Given the description of an element on the screen output the (x, y) to click on. 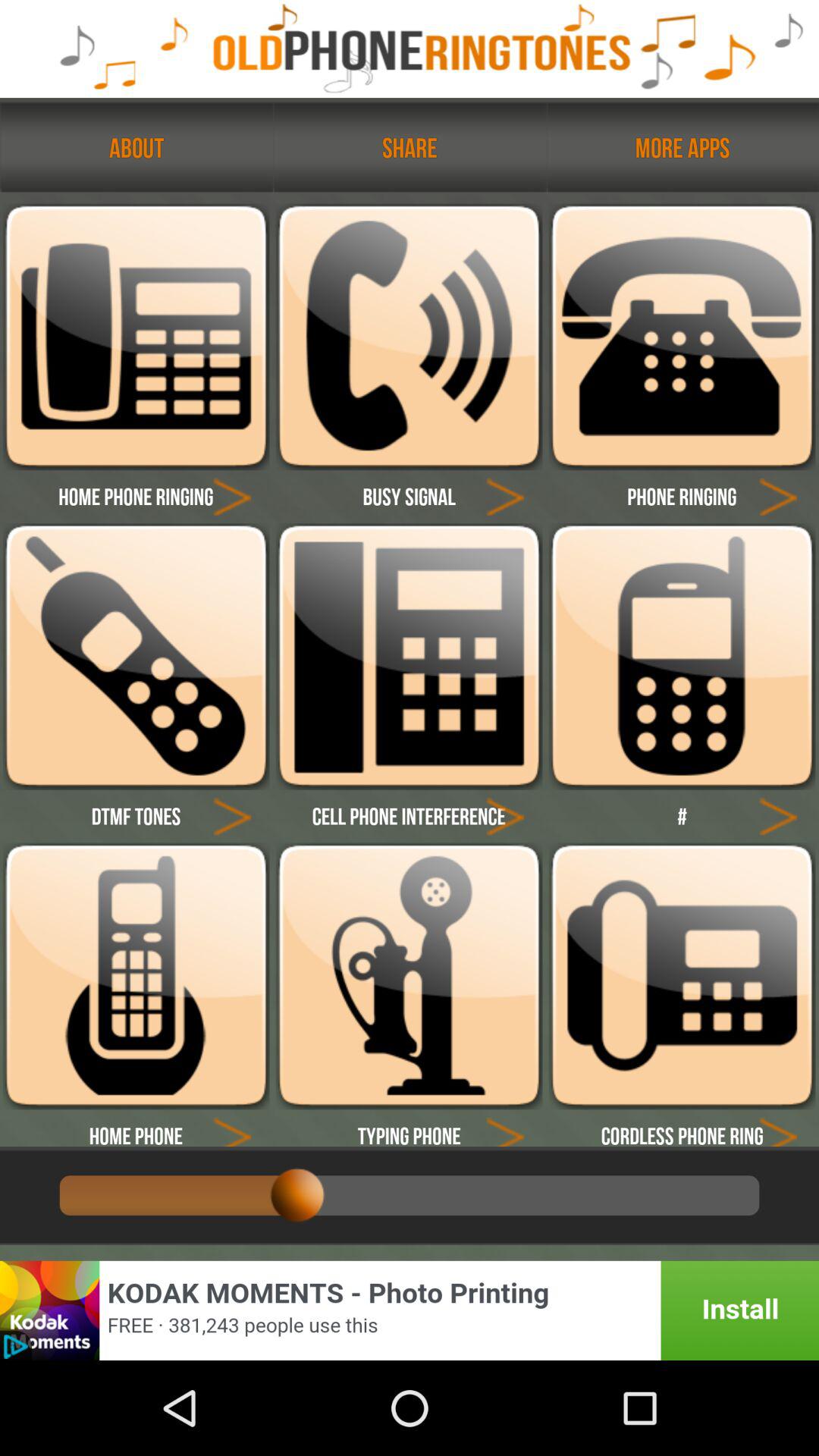
next symbol (778, 815)
